Given the description of an element on the screen output the (x, y) to click on. 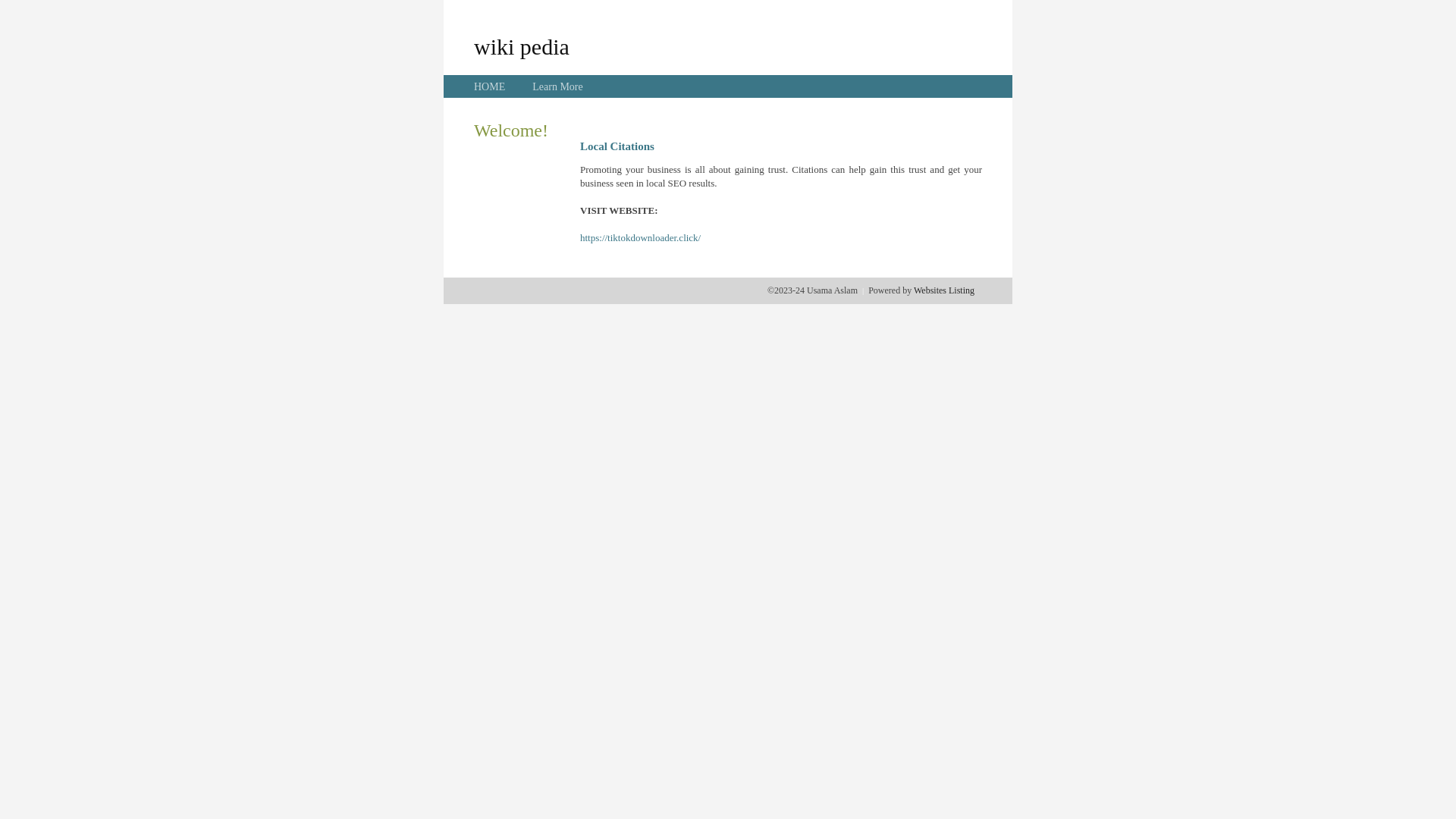
HOME Element type: text (489, 86)
Websites Listing Element type: text (943, 290)
https://tiktokdownloader.click/ Element type: text (640, 237)
Learn More Element type: text (557, 86)
wiki pedia Element type: text (521, 46)
